Given the description of an element on the screen output the (x, y) to click on. 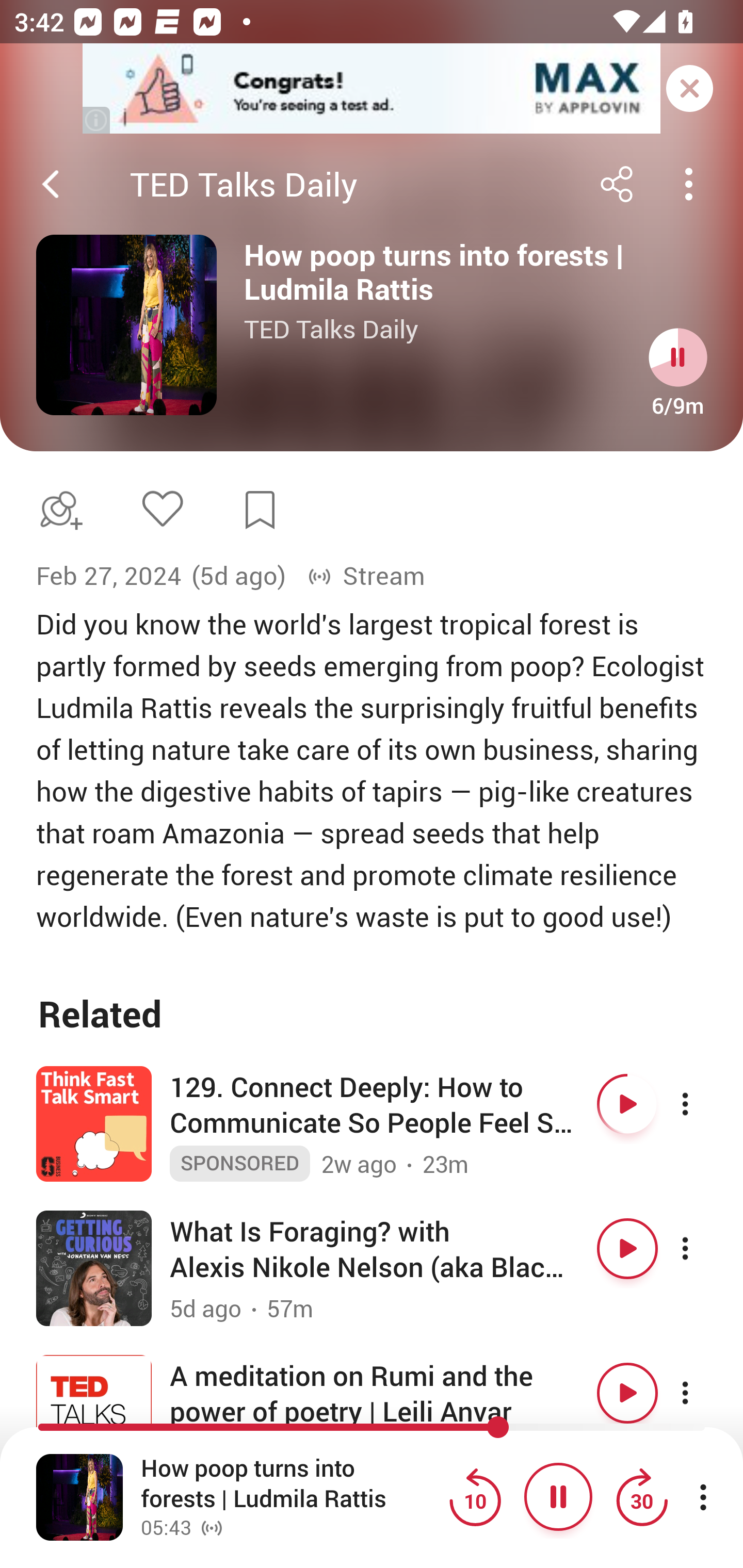
app-monetization (371, 88)
(i) (96, 119)
Back (50, 184)
Open series (126, 325)
Pause button (677, 357)
Like (161, 507)
Add episode to Play Later (57, 509)
New bookmark … (259, 510)
Stream (365, 576)
Play button (627, 1104)
More options (703, 1104)
Play button (627, 1248)
More options (703, 1248)
Play button (627, 1393)
More options (703, 1393)
Open fullscreen player (79, 1497)
More player controls (703, 1497)
How poop turns into forests | Ludmila Rattis (290, 1484)
Pause button (558, 1496)
Jump back (475, 1497)
Jump forward (641, 1497)
